Given the description of an element on the screen output the (x, y) to click on. 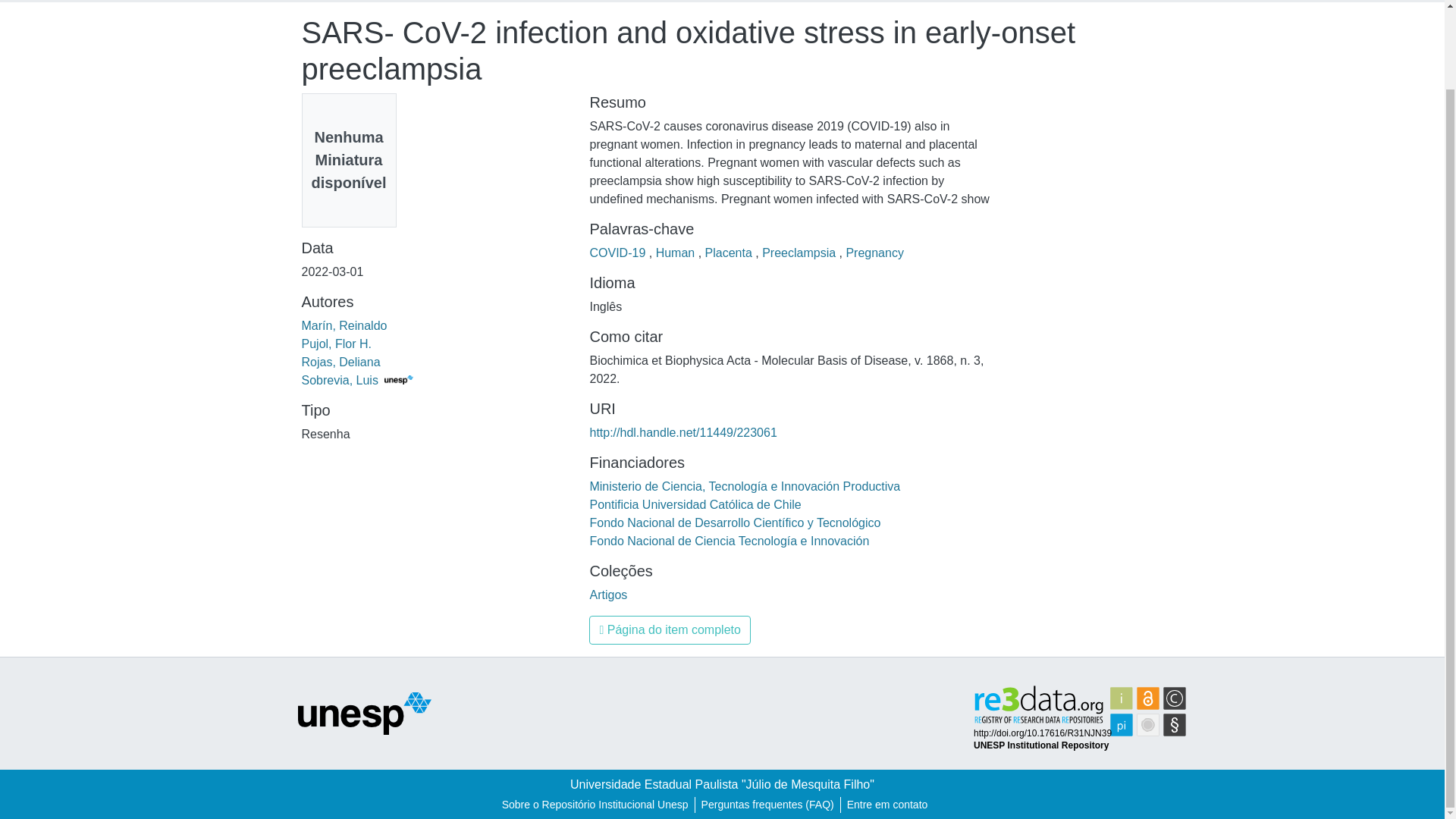
Pregnancy (874, 252)
COVID-19 (618, 252)
Pujol, Flor H. (336, 343)
Sobrevia, Luis (357, 379)
Preeclampsia (799, 252)
Artigos (608, 594)
Rojas, Deliana (340, 361)
Placenta (729, 252)
Human (677, 252)
